Given the description of an element on the screen output the (x, y) to click on. 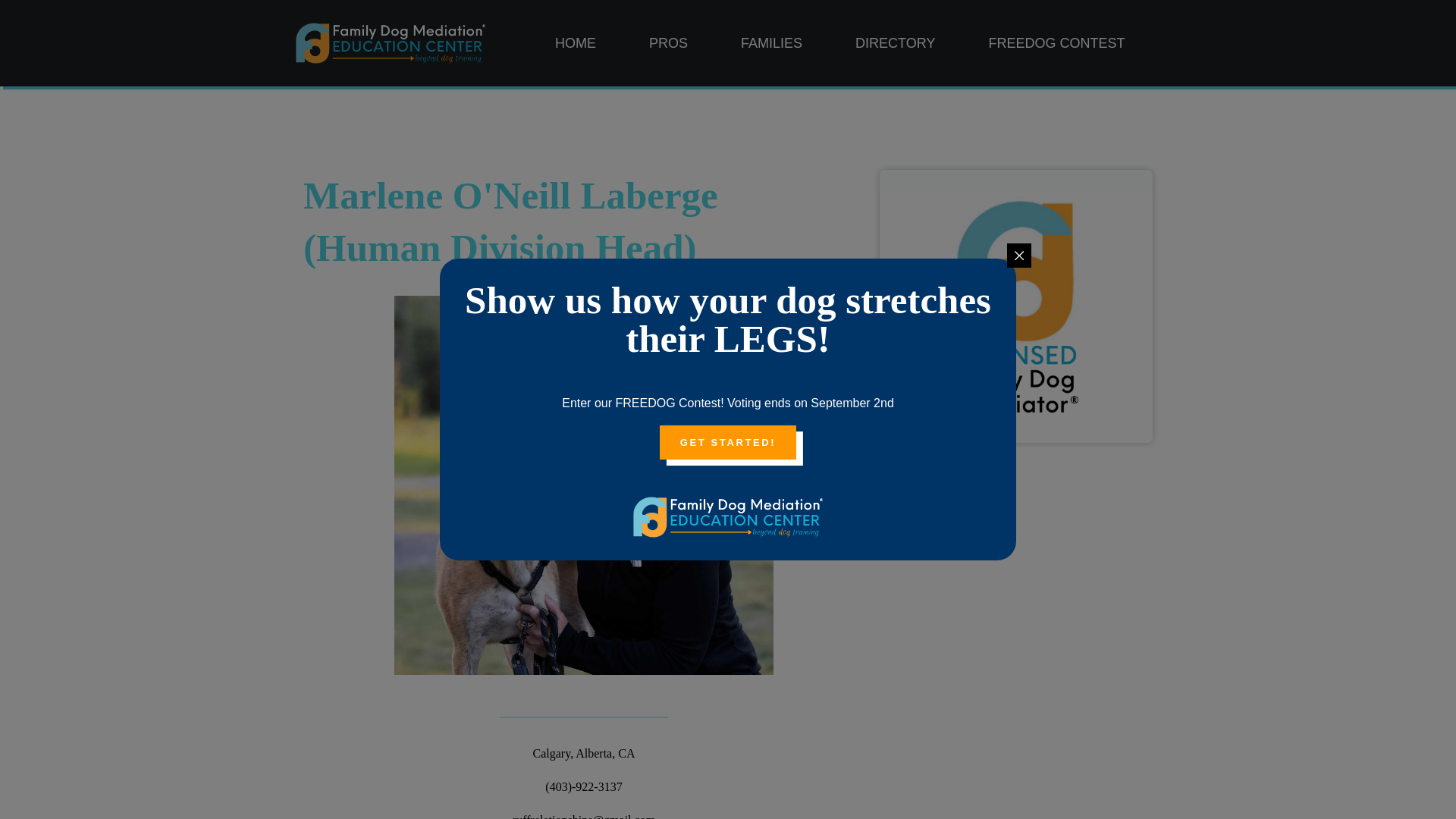
HOME (574, 43)
PROS (668, 43)
FAMILIES (771, 43)
FREEDOG CONTEST (1056, 43)
DIRECTORY (895, 43)
